Given the description of an element on the screen output the (x, y) to click on. 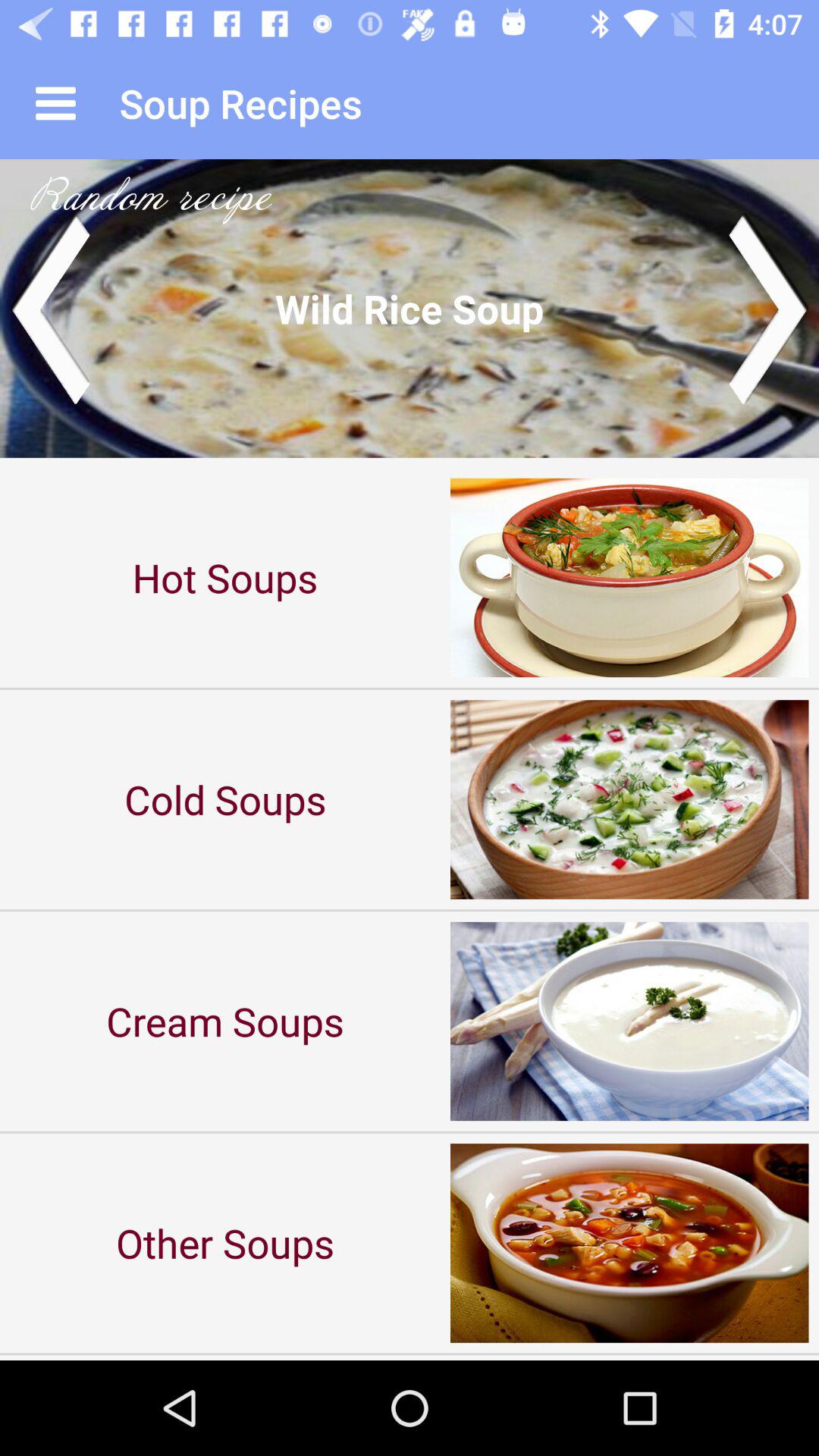
scroll to other soups (225, 1242)
